Given the description of an element on the screen output the (x, y) to click on. 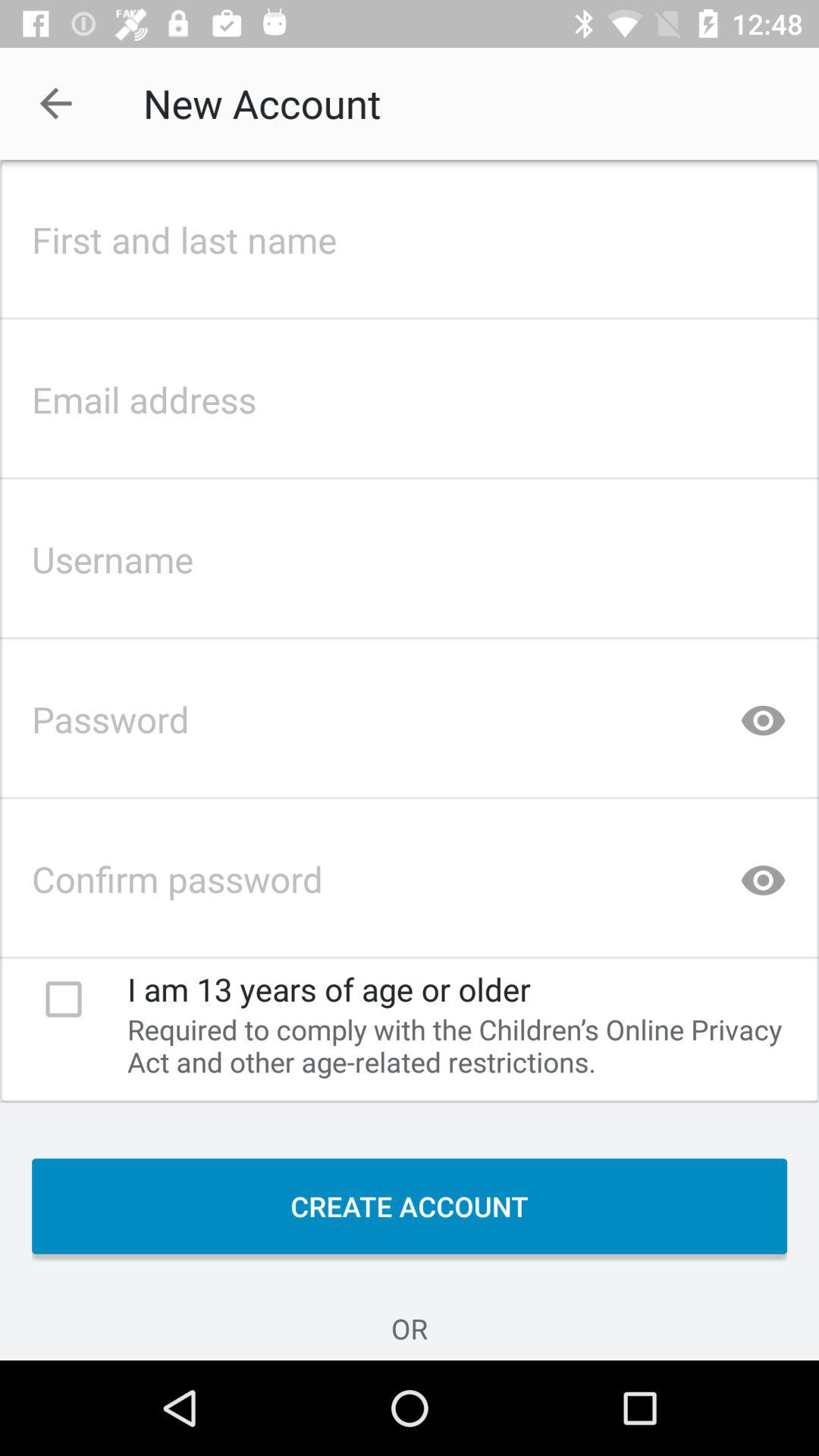
view plaintext of the password entered (763, 714)
